Given the description of an element on the screen output the (x, y) to click on. 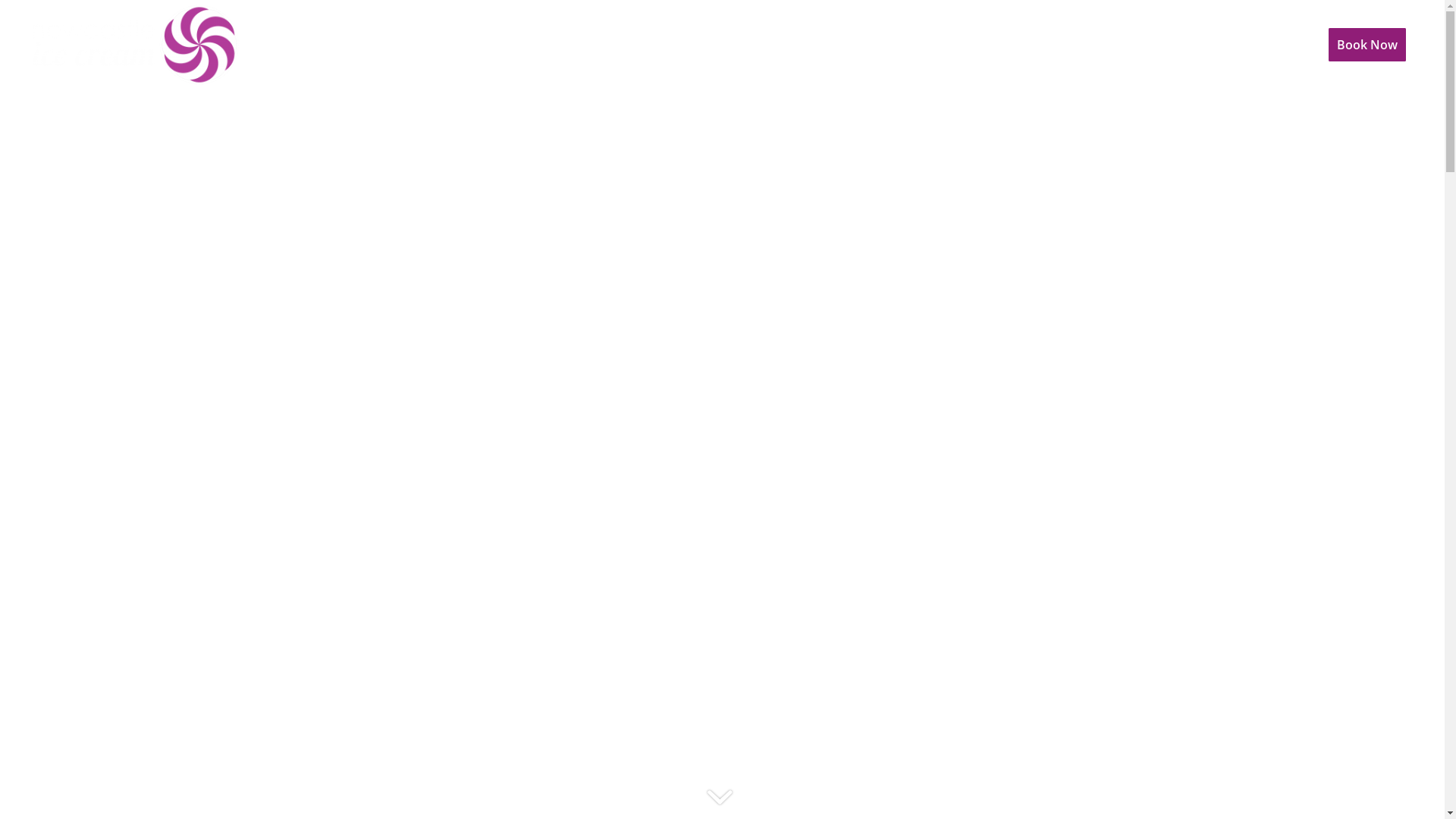
About Us Element type: text (937, 44)
Newcastle Ice Cream Element type: text (1044, 44)
Event Catering Element type: text (1266, 44)
Mobile Coffee Element type: text (1164, 44)
Book Now Element type: text (1366, 44)
Welcome Element type: text (864, 44)
